Given the description of an element on the screen output the (x, y) to click on. 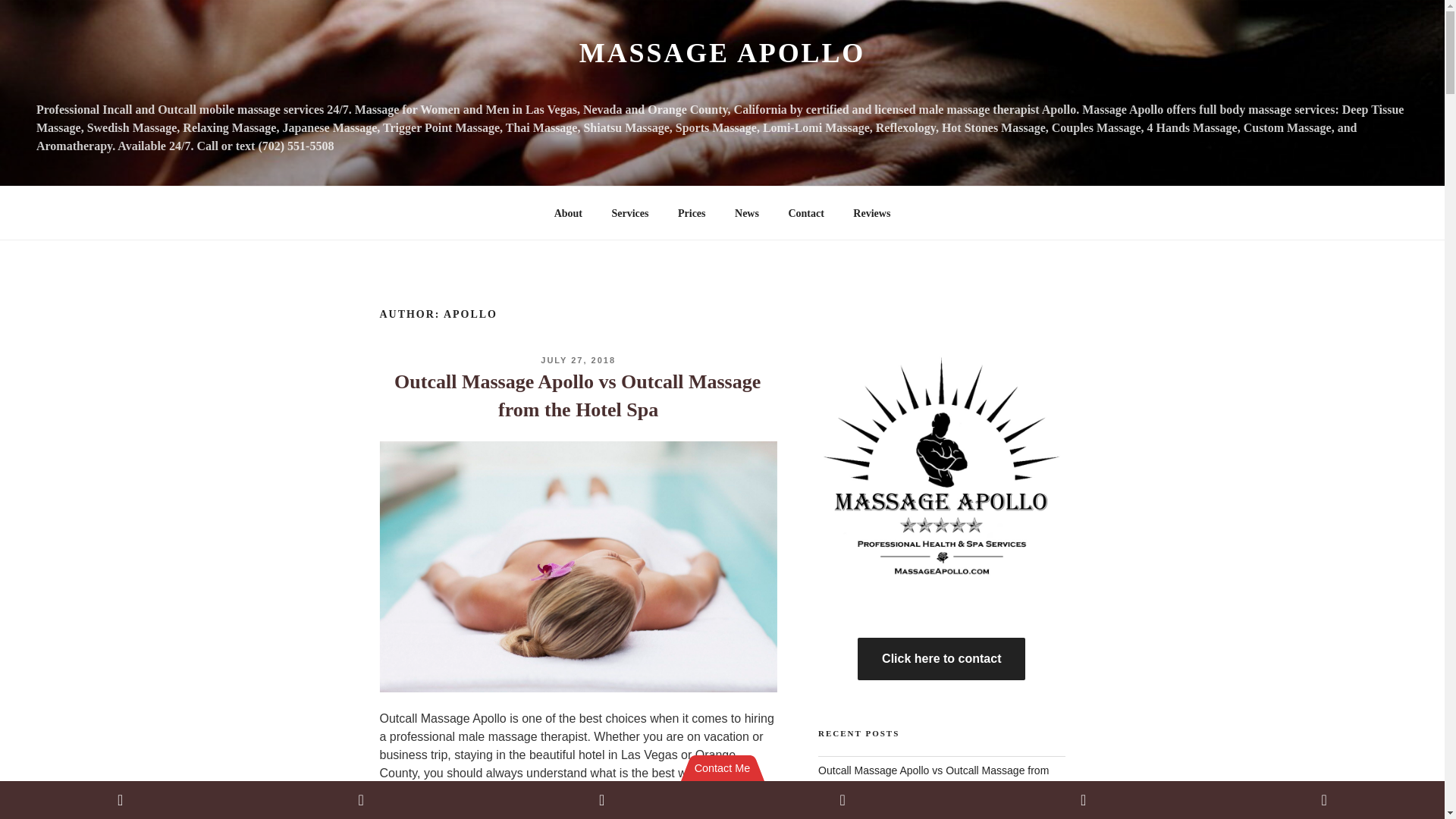
Services (630, 212)
News (747, 212)
Prices (691, 212)
About (567, 212)
Contact (805, 212)
JULY 27, 2018 (577, 359)
Click here to contact (941, 658)
Reflexology Massage Apollo (885, 814)
MASSAGE APOLLO (721, 52)
Outcall Massage Apollo vs Outcall Massage from the Hotel Spa (933, 778)
Reviews (872, 212)
Click here to contact (941, 659)
Outcall Massage Apollo vs Outcall Massage from the Hotel Spa (577, 395)
